Given the description of an element on the screen output the (x, y) to click on. 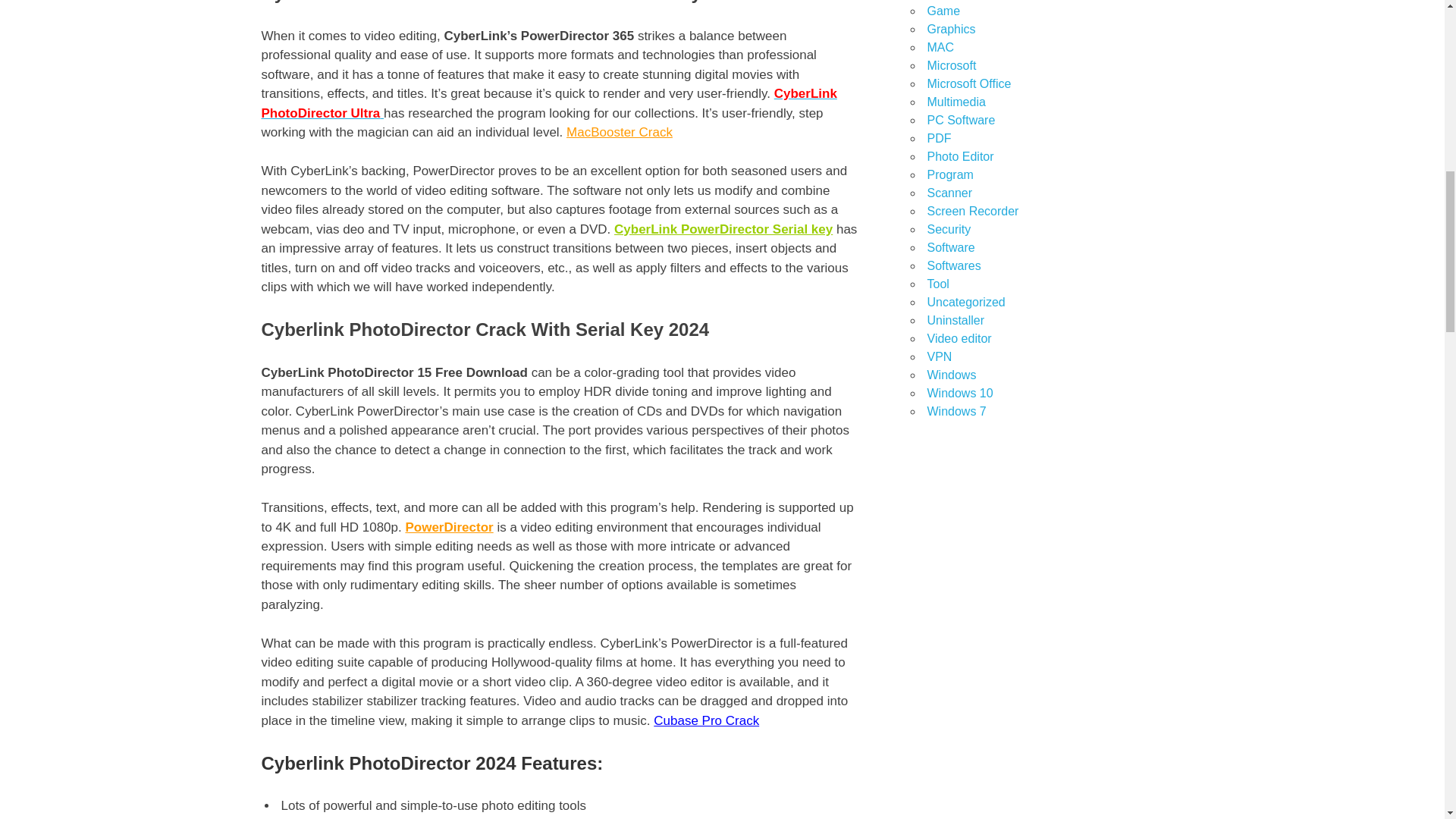
PowerDirector (448, 527)
CyberLink PhotoDirector Ultra (547, 103)
MacBooster Crack (619, 132)
CyberLink PowerDirector Serial key (723, 228)
Cubase Pro Crack (705, 720)
